Given the description of an element on the screen output the (x, y) to click on. 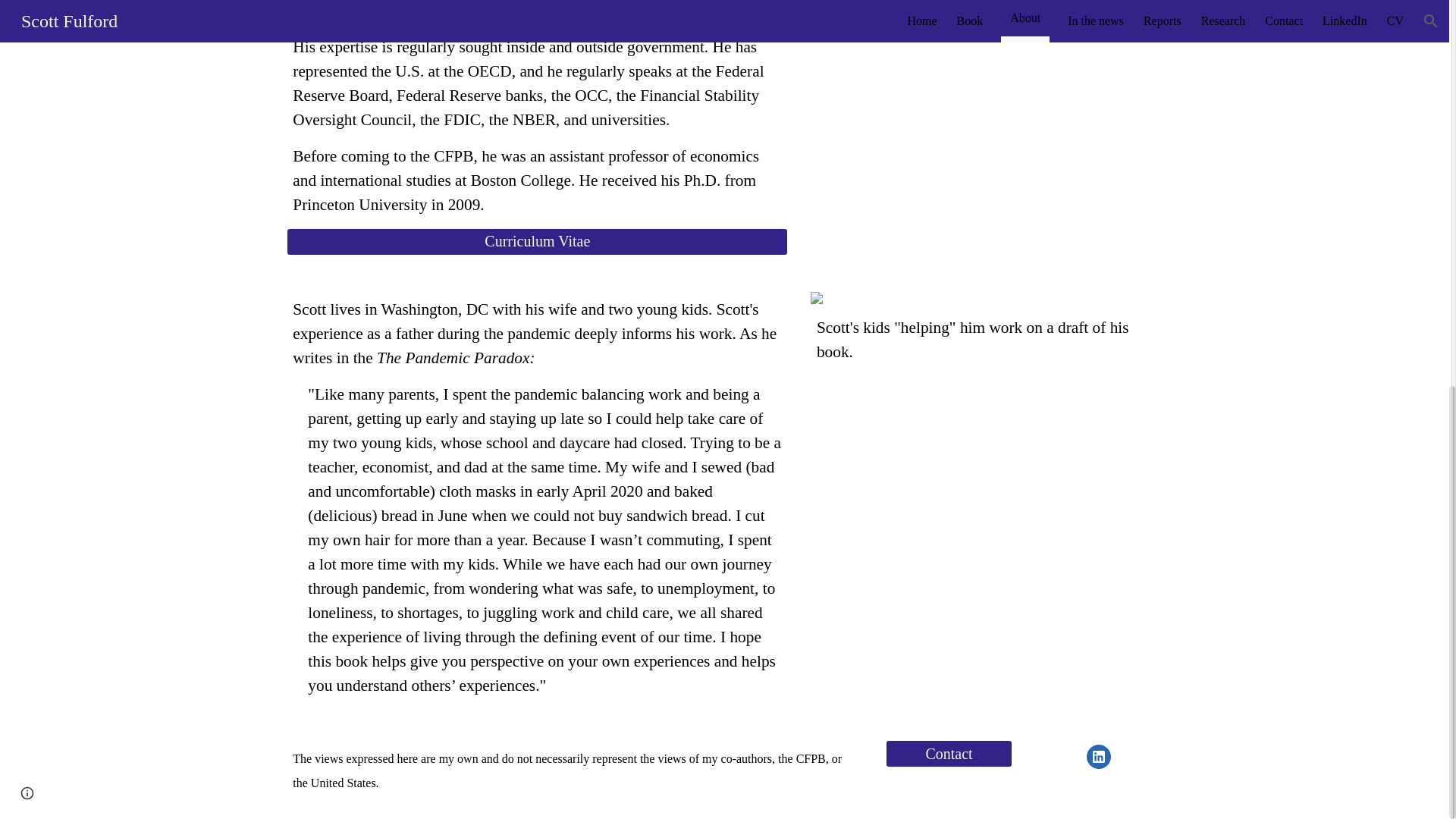
Curriculum Vitae (536, 241)
Contact (948, 754)
